Given the description of an element on the screen output the (x, y) to click on. 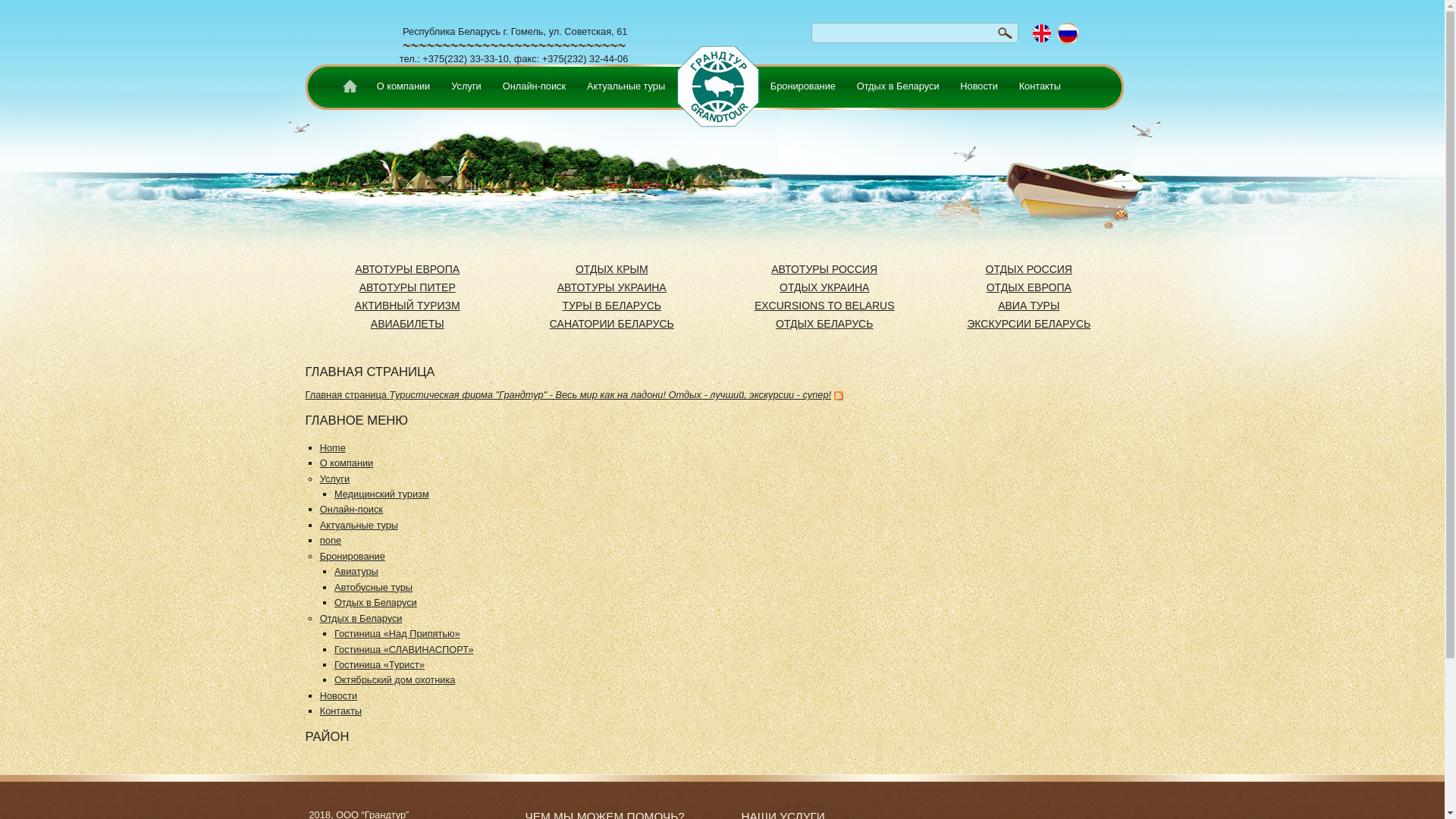
Syndicated feed for front page Element type: hover (838, 394)
none Element type: text (330, 540)
Home Element type: text (332, 447)
English Element type: text (1041, 33)
Home Element type: text (347, 88)
none Element type: text (715, 78)
EXCURSIONS TO BELARUS Element type: text (823, 305)
